Given the description of an element on the screen output the (x, y) to click on. 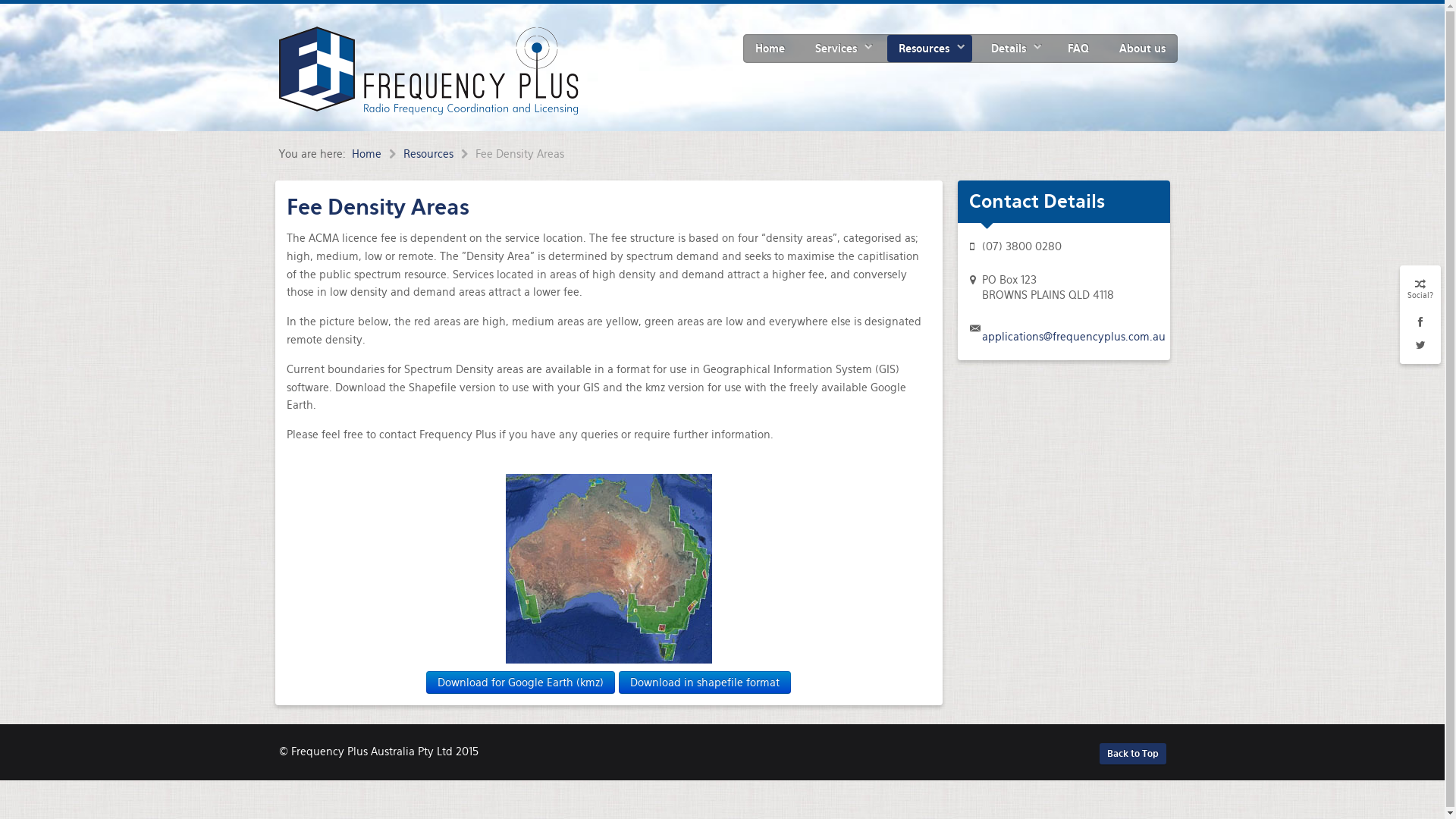
Back to Top Element type: text (1132, 753)
Services Element type: text (841, 48)
Home Element type: text (377, 153)
FAQ Element type: text (1077, 48)
Resources Element type: text (929, 48)
Download in shapefile format Element type: text (704, 682)
Download for Google Earth (kmz) Element type: text (520, 682)
Home Element type: text (769, 48)
Resources Element type: text (439, 153)
Details Element type: text (1013, 48)
applications@frequencyplus.com.au Element type: text (1072, 336)
Fee Density Areas Element type: text (377, 206)
About us Element type: text (1141, 48)
